Given the description of an element on the screen output the (x, y) to click on. 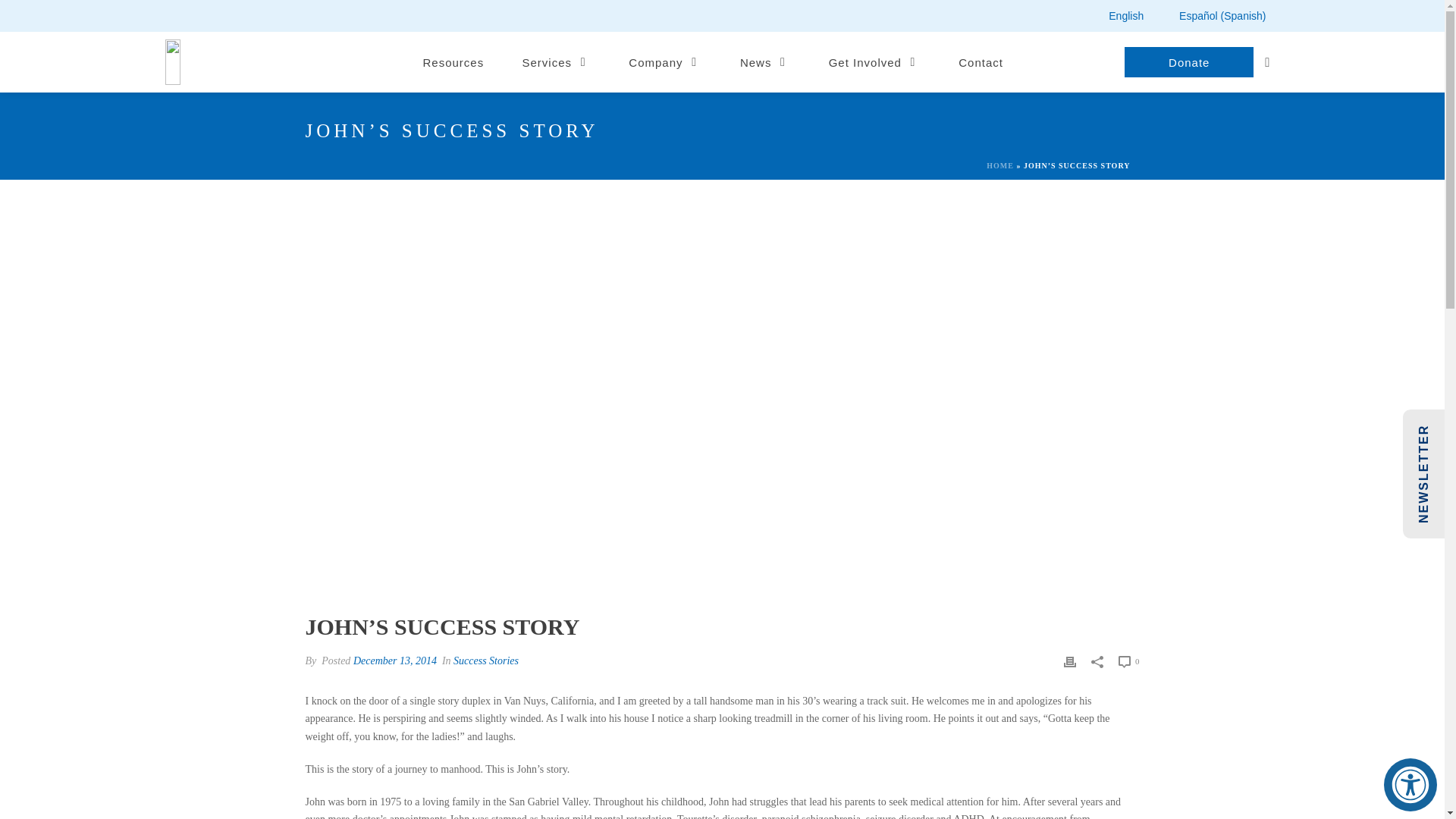
News (764, 62)
Company (664, 62)
Get Involved (874, 62)
Services (556, 62)
Resources (453, 62)
Accessibility (1410, 784)
English (1115, 15)
